Given the description of an element on the screen output the (x, y) to click on. 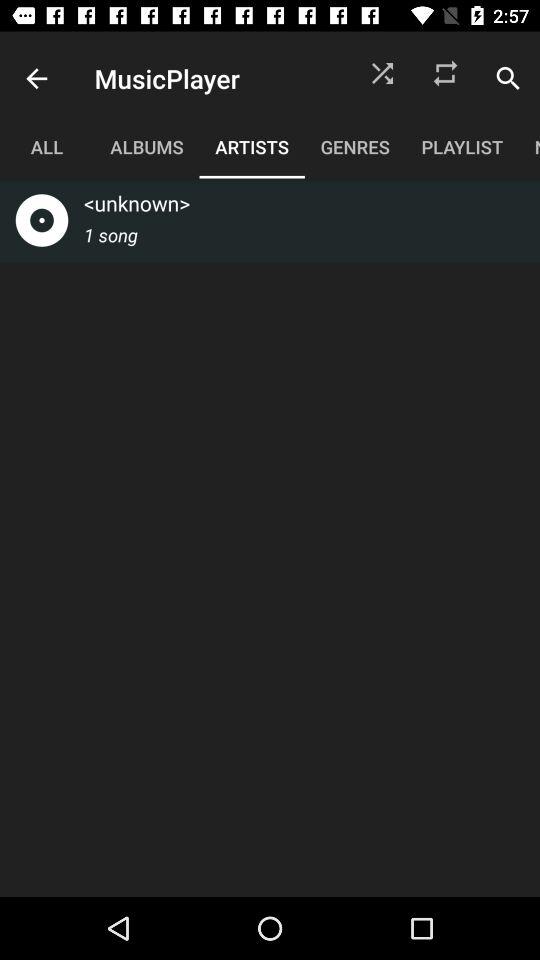
select icon to the right of the musicplayer icon (381, 78)
